Given the description of an element on the screen output the (x, y) to click on. 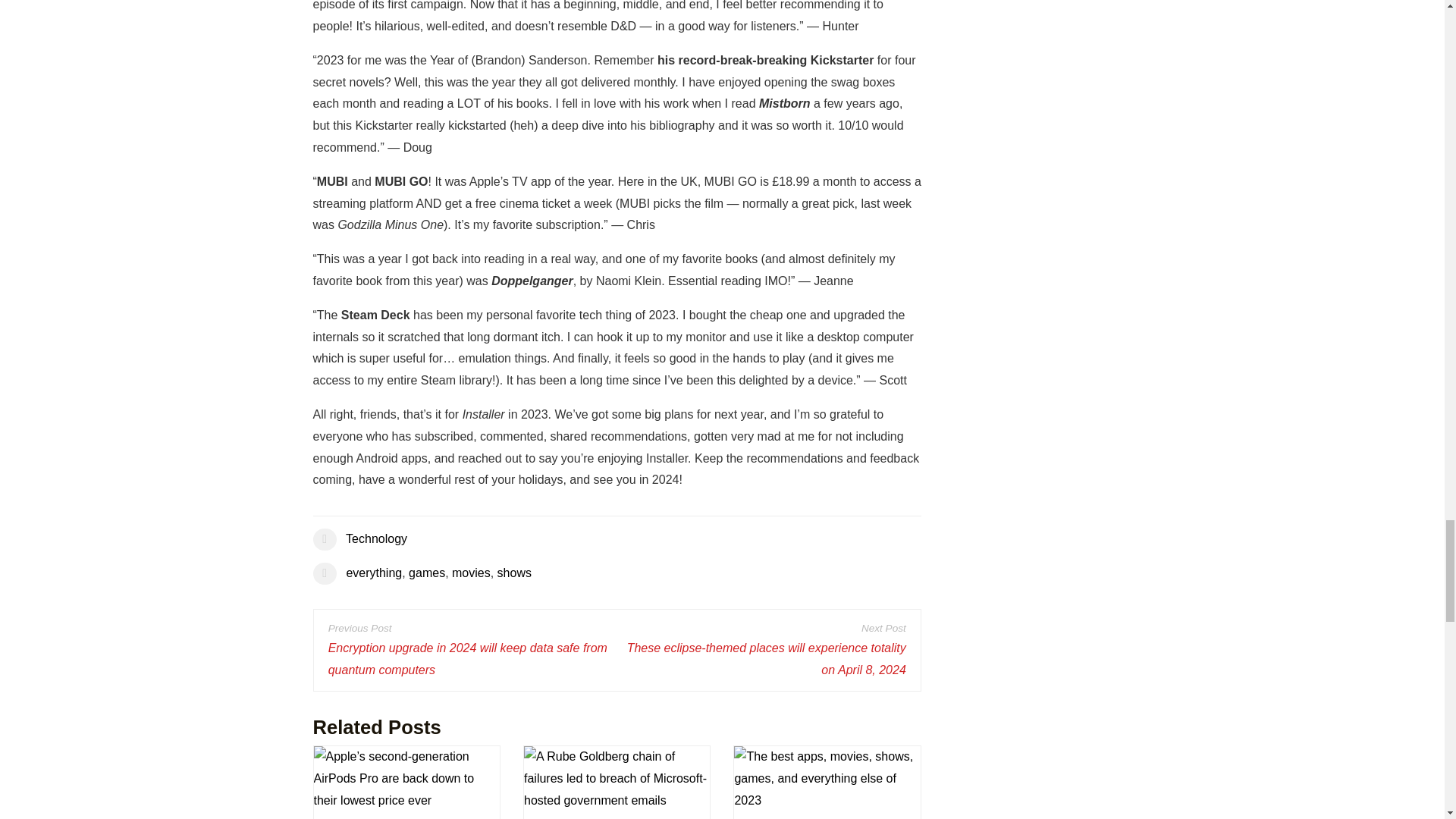
Technology (376, 538)
shows (514, 572)
games (427, 572)
everything (373, 572)
movies (470, 572)
